Given the description of an element on the screen output the (x, y) to click on. 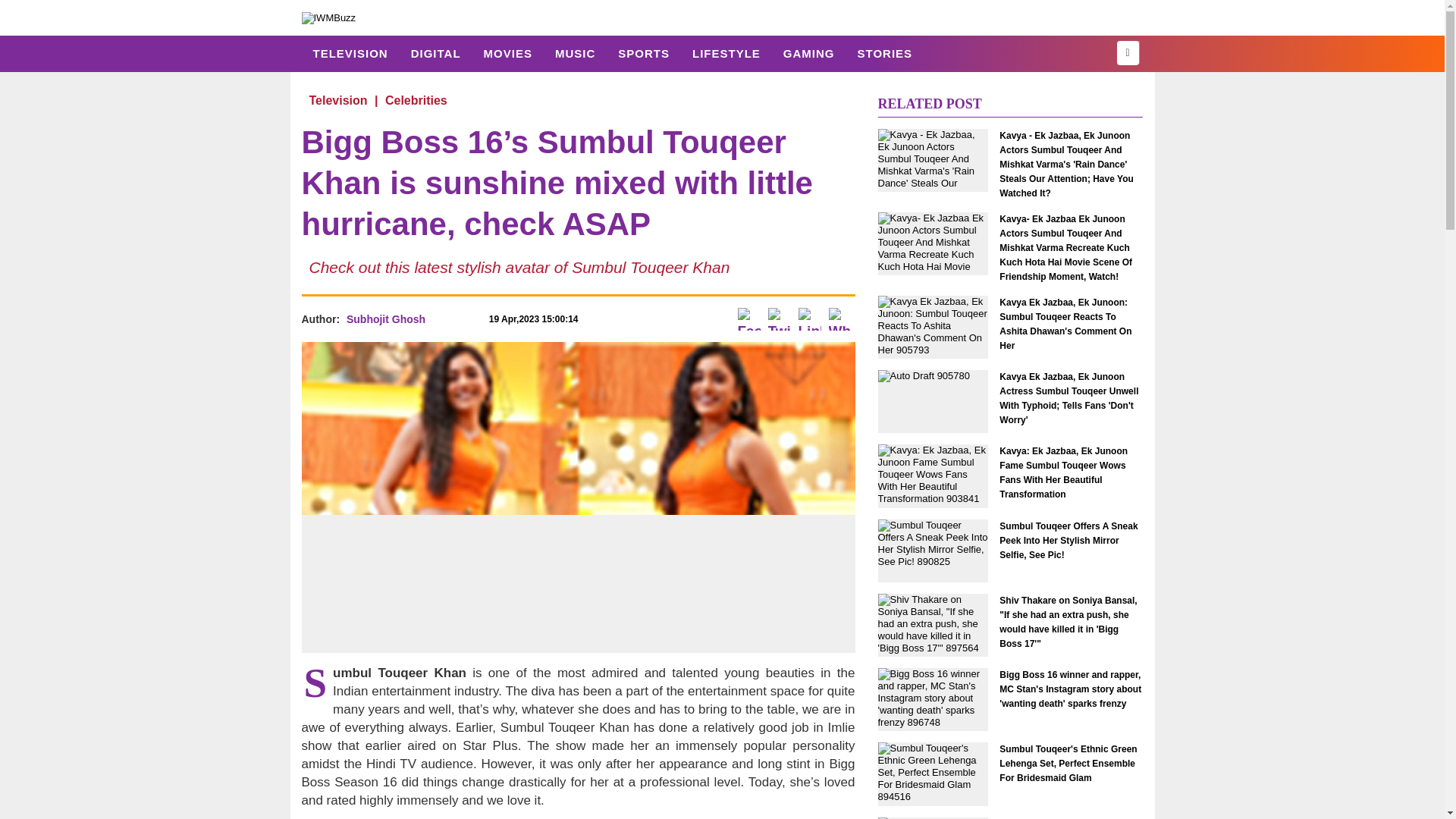
GAMING (808, 53)
Gaming (808, 53)
Lifestyle (726, 53)
Web Stories (884, 53)
Subhojit Ghosh (385, 318)
TELEVISION (349, 53)
Movies (507, 53)
MUSIC (575, 53)
